Given the description of an element on the screen output the (x, y) to click on. 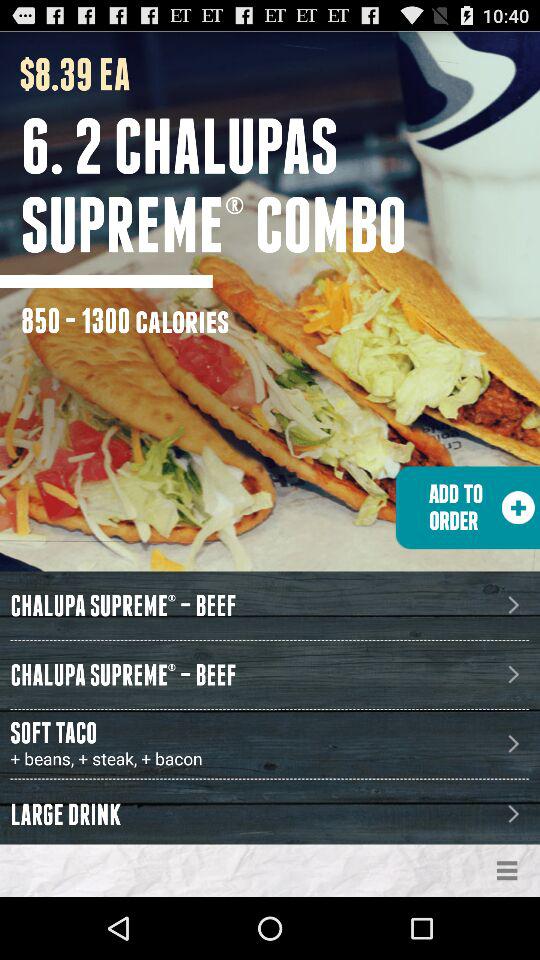
press the icon above 6 2 chalupas (65, 74)
